Given the description of an element on the screen output the (x, y) to click on. 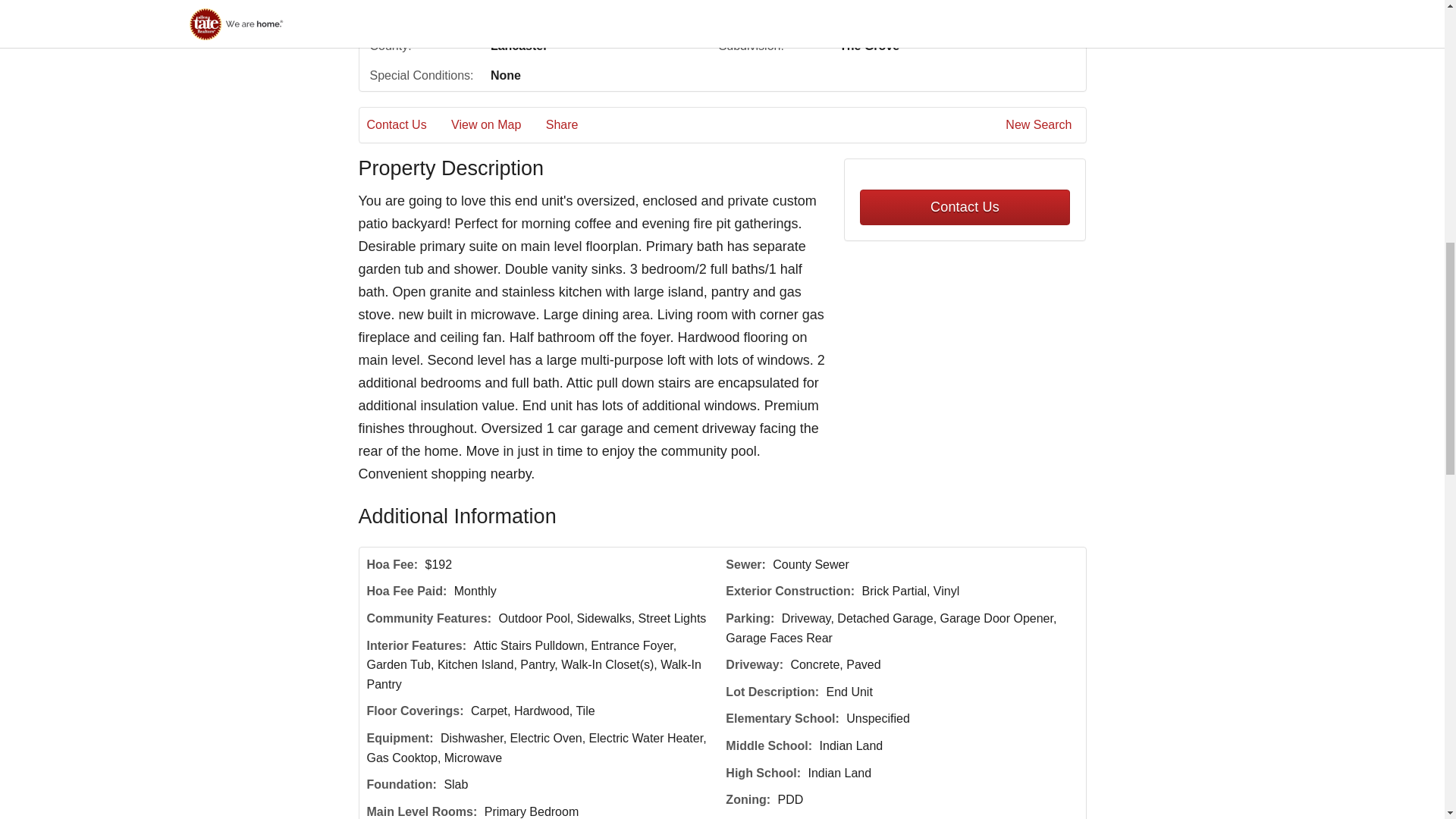
Share (572, 124)
View on Map (496, 124)
Contact Us (407, 124)
New Search (1041, 124)
Contact Us (965, 207)
